Given the description of an element on the screen output the (x, y) to click on. 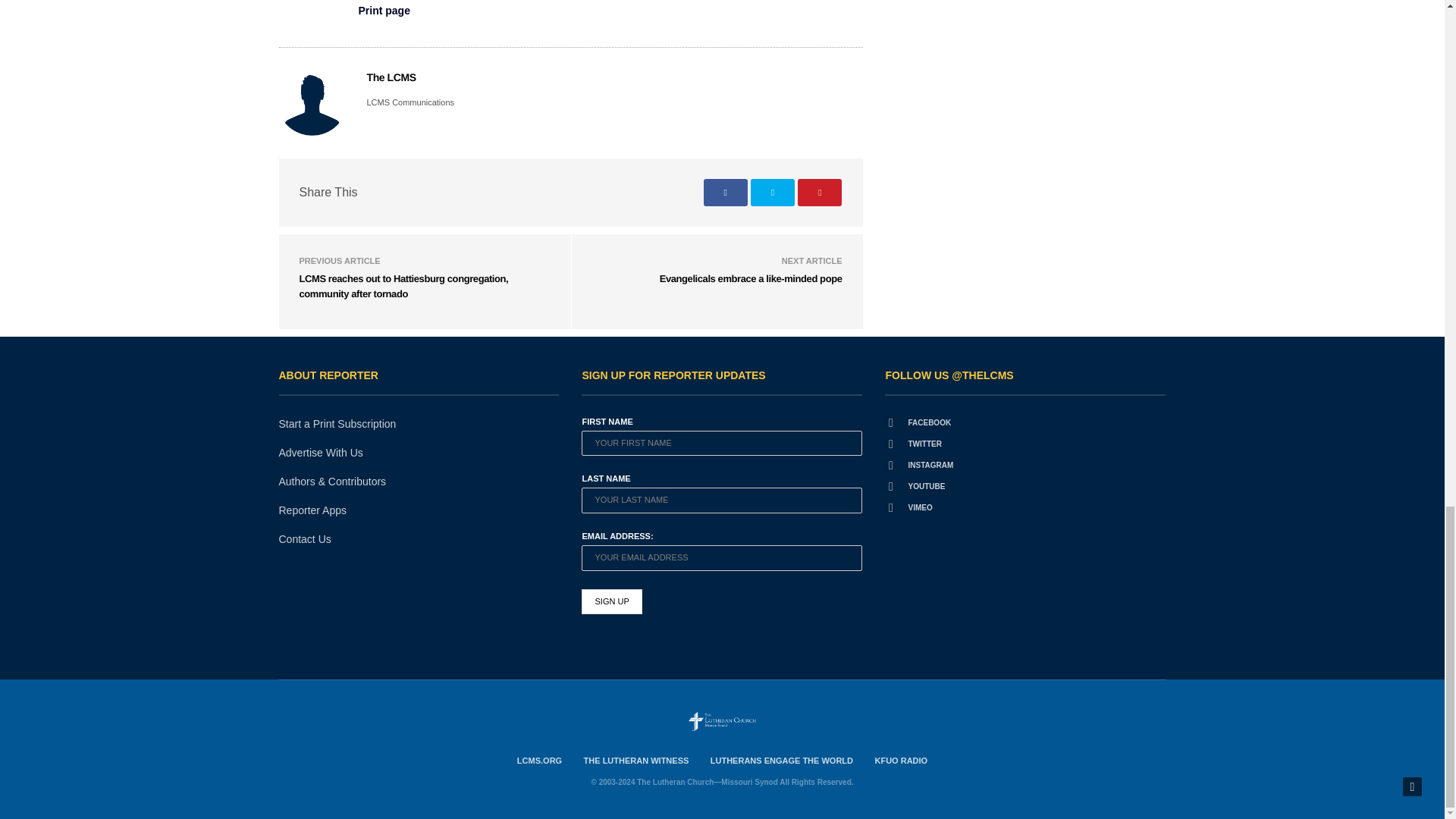
Evangelicals embrace a like-minded pope (751, 278)
Sign up (611, 601)
